Given the description of an element on the screen output the (x, y) to click on. 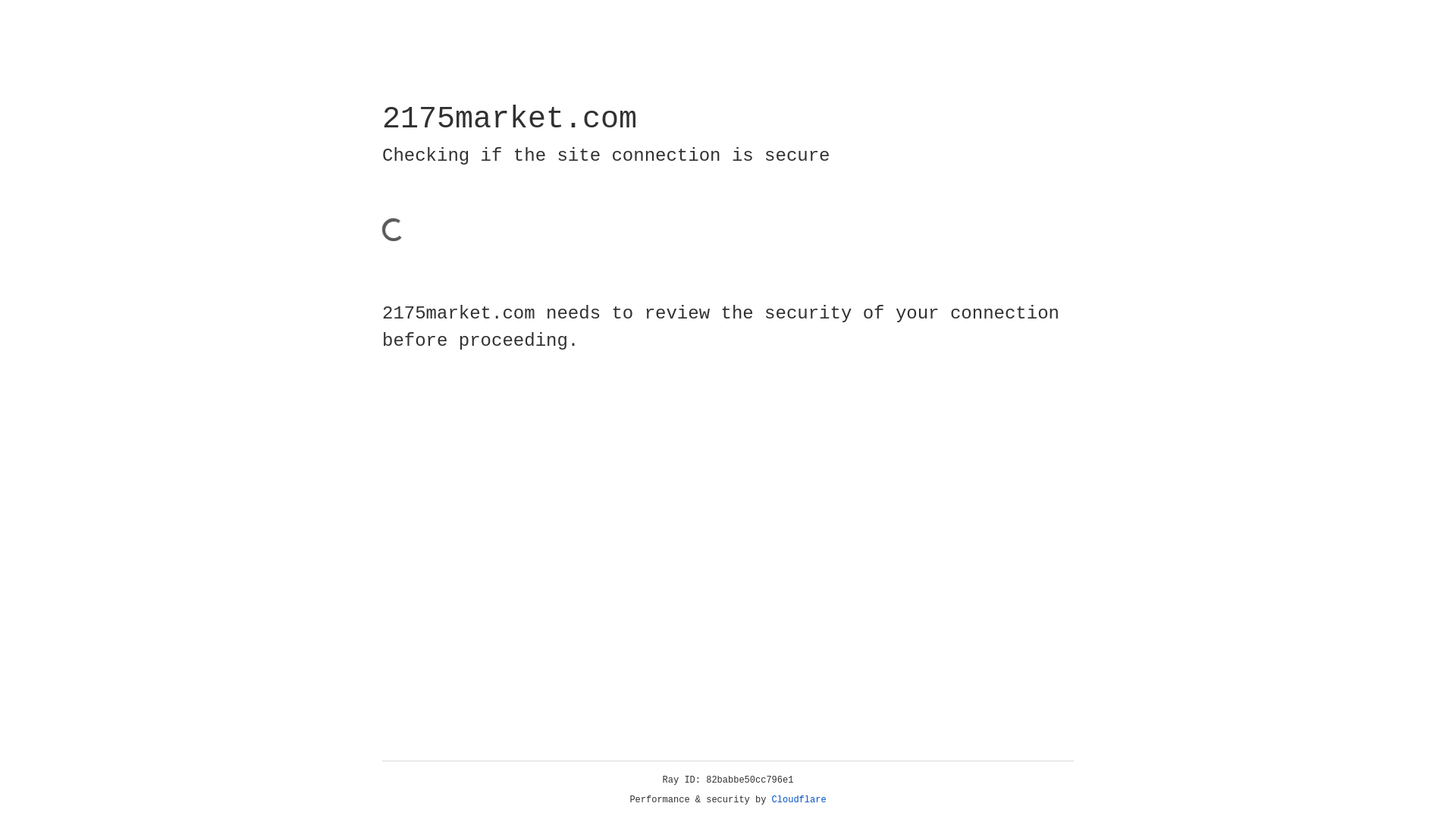
Cloudflare Element type: text (798, 799)
